Given the description of an element on the screen output the (x, y) to click on. 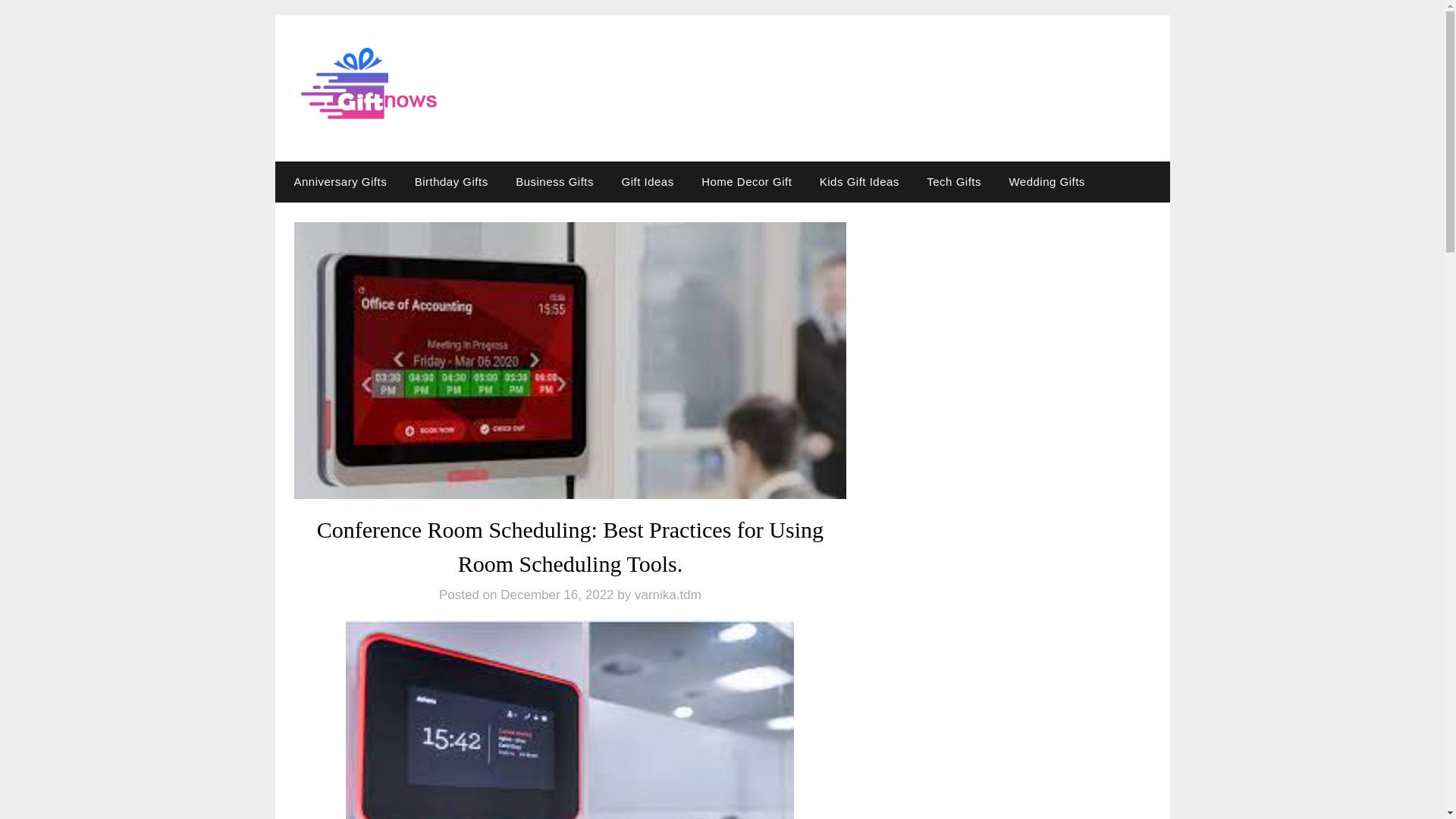
Gift Ideas (646, 181)
Anniversary Gifts (336, 181)
Business Gifts (554, 181)
Home Decor Gift (745, 181)
Tech Gifts (953, 181)
Kids Gift Ideas (859, 181)
December 16, 2022 (556, 594)
Wedding Gifts (1045, 181)
Birthday Gifts (451, 181)
varnika.tdm (667, 594)
